Given the description of an element on the screen output the (x, y) to click on. 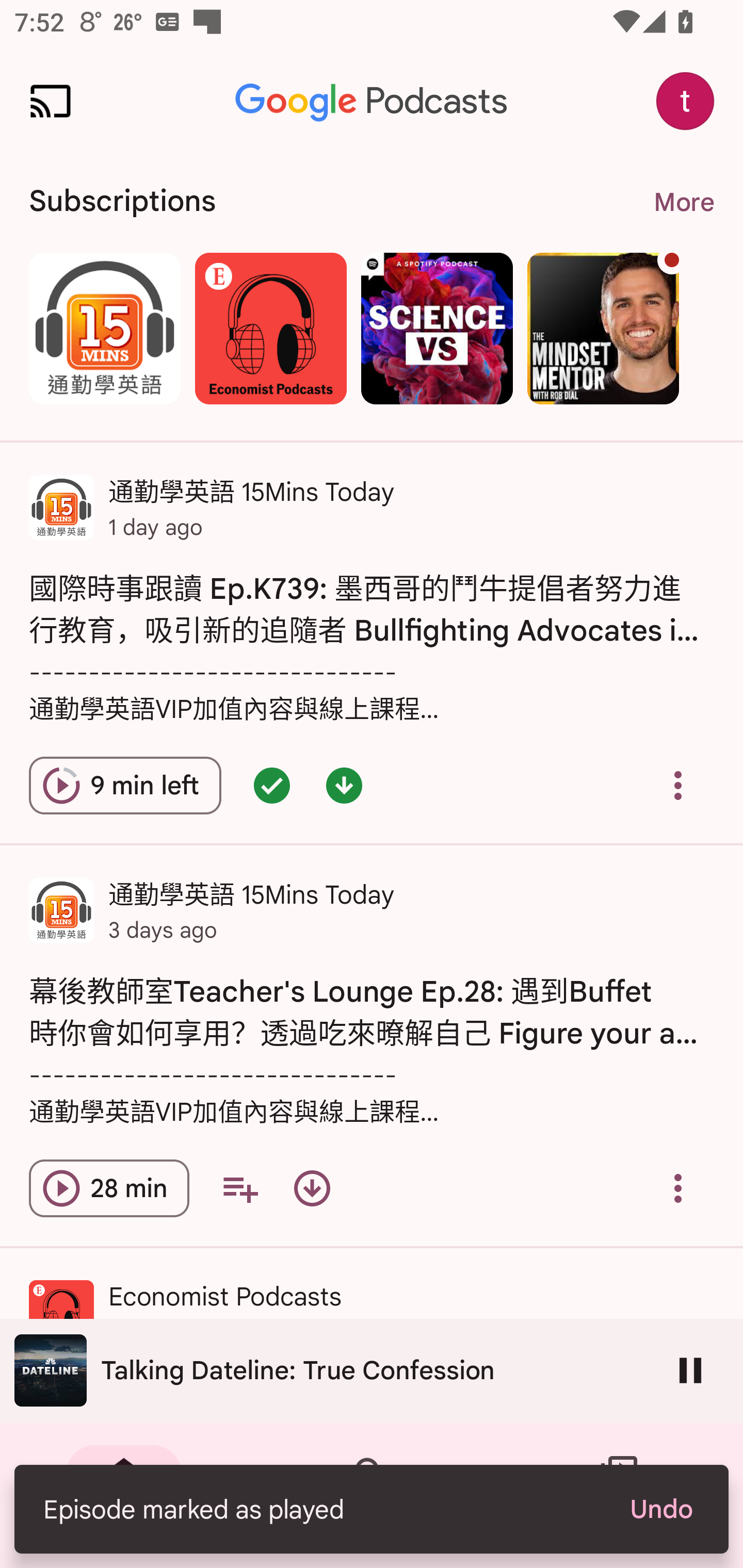
Cast. Disconnected (50, 101)
More More. Navigate to subscriptions page. (683, 202)
通勤學英語 15Mins Today (104, 328)
Economist Podcasts (270, 328)
Science Vs (436, 328)
The Mindset Mentor (603, 328)
Episode queued - double tap for options (271, 785)
Episode downloaded - double tap for options (344, 785)
Overflow menu (677, 785)
Add to your queue (239, 1188)
Download episode (312, 1188)
Overflow menu (677, 1188)
Pause (690, 1370)
Undo (660, 1509)
